Given the description of an element on the screen output the (x, y) to click on. 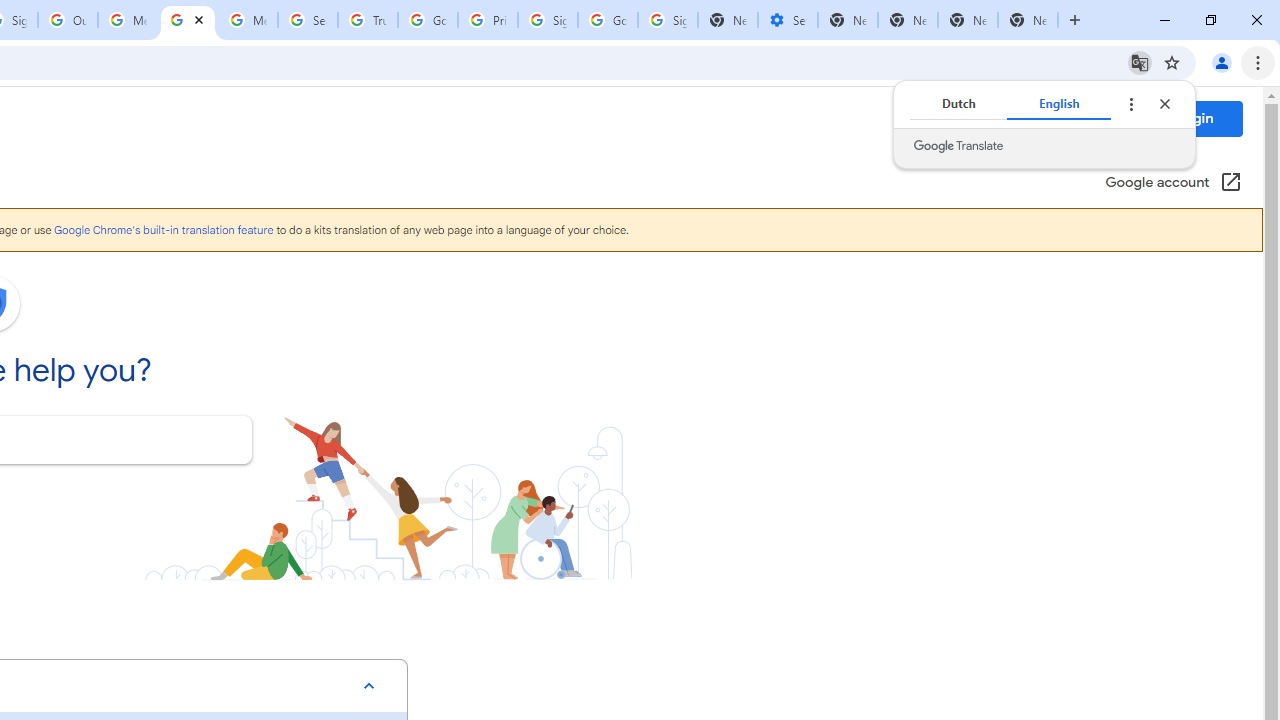
Settings - Performance (787, 20)
New Tab (847, 20)
English (1059, 103)
Dutch (958, 103)
Sign in - Google Accounts (548, 20)
Search our Doodle Library Collection - Google Doodles (307, 20)
Sign in - Google Accounts (667, 20)
Translate this page (1139, 62)
New Tab (1028, 20)
